Given the description of an element on the screen output the (x, y) to click on. 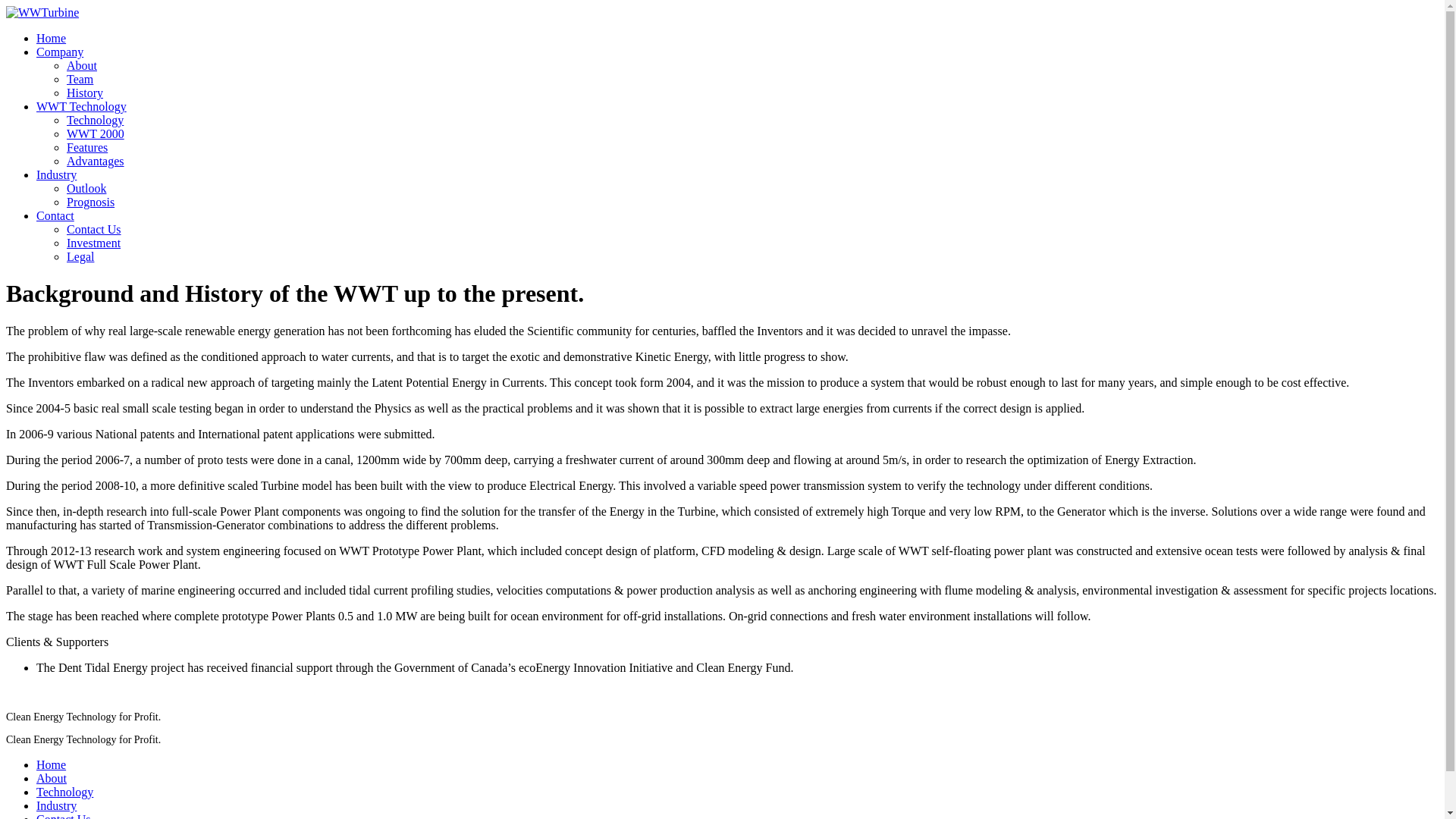
WWT 2000 (94, 133)
Industry (56, 174)
Features (86, 146)
Technology (64, 791)
Home (50, 38)
Company (59, 51)
History (84, 92)
WWT Technology (81, 106)
Technology (94, 119)
Legal (80, 256)
Outlook (86, 187)
Industry (56, 805)
About (51, 778)
About (81, 65)
Advantages (94, 160)
